Given the description of an element on the screen output the (x, y) to click on. 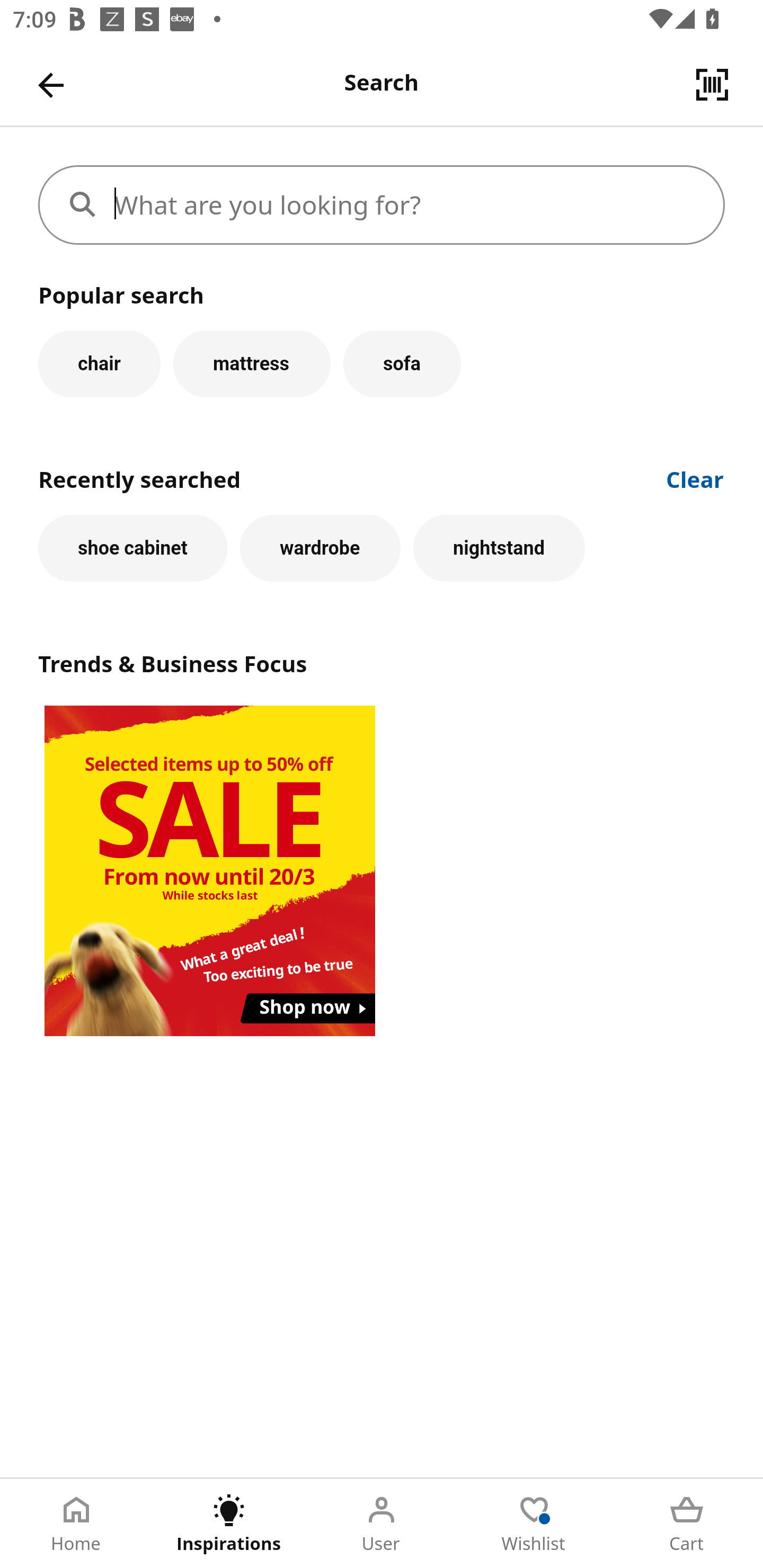
chair (99, 363)
mattress (251, 363)
sofa (401, 363)
Clear (695, 477)
shoe cabinet (132, 547)
wardrobe (320, 547)
nightstand (499, 547)
Home
Tab 1 of 5 (76, 1522)
Inspirations
Tab 2 of 5 (228, 1522)
User
Tab 3 of 5 (381, 1522)
Wishlist
Tab 4 of 5 (533, 1522)
Cart
Tab 5 of 5 (686, 1522)
